Given the description of an element on the screen output the (x, y) to click on. 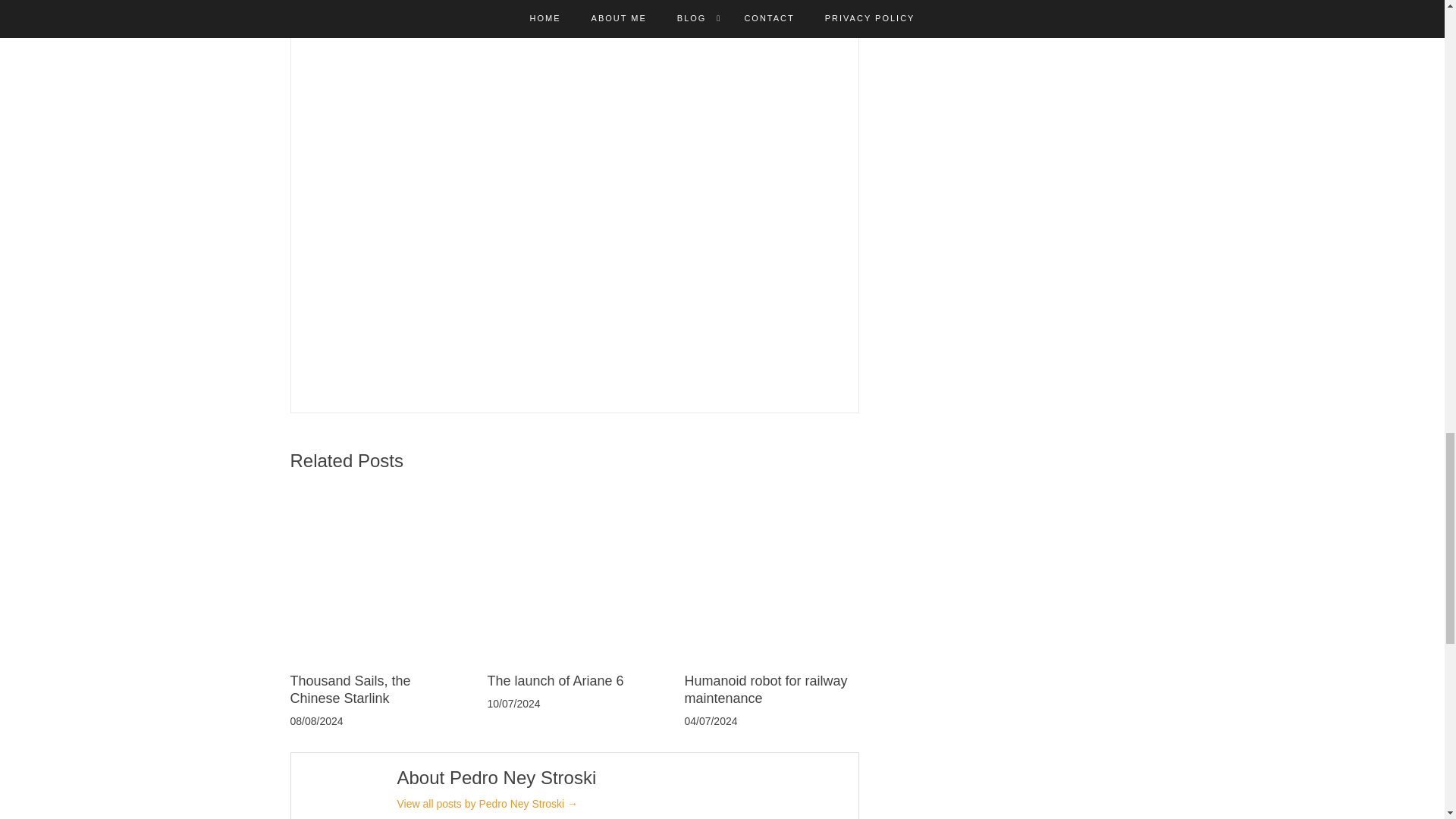
Humanoid robot for railway maintenance (765, 689)
The launch of Ariane 6 (554, 680)
Thousand Sails, the Chinese Starlink (349, 689)
